Given the description of an element on the screen output the (x, y) to click on. 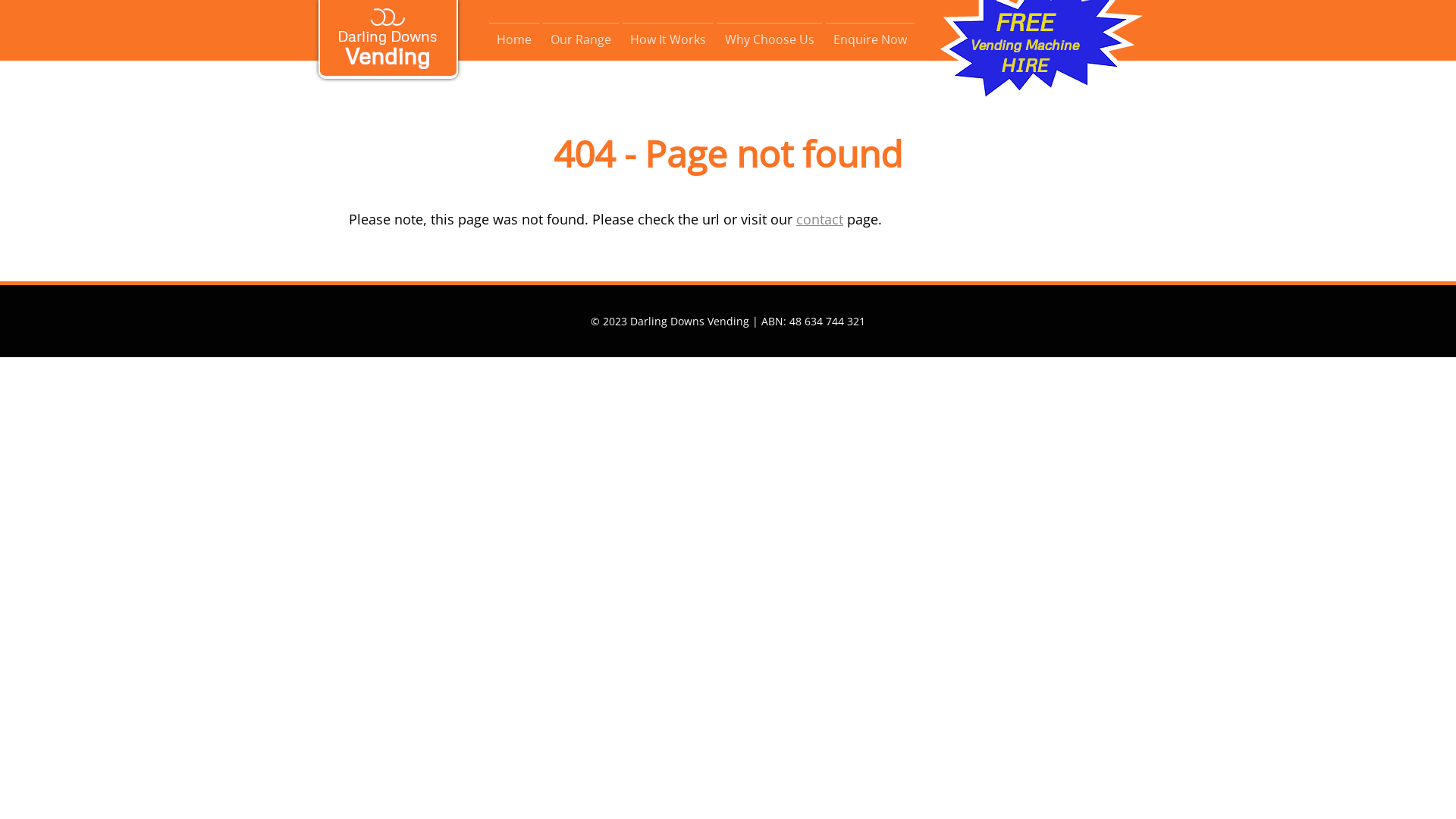
Enquire Now Element type: text (869, 38)
How It Works Element type: text (667, 38)
Our Range Element type: text (580, 38)
contact Element type: text (819, 219)
Why Choose Us Element type: text (769, 38)
Home Element type: text (514, 38)
